Given the description of an element on the screen output the (x, y) to click on. 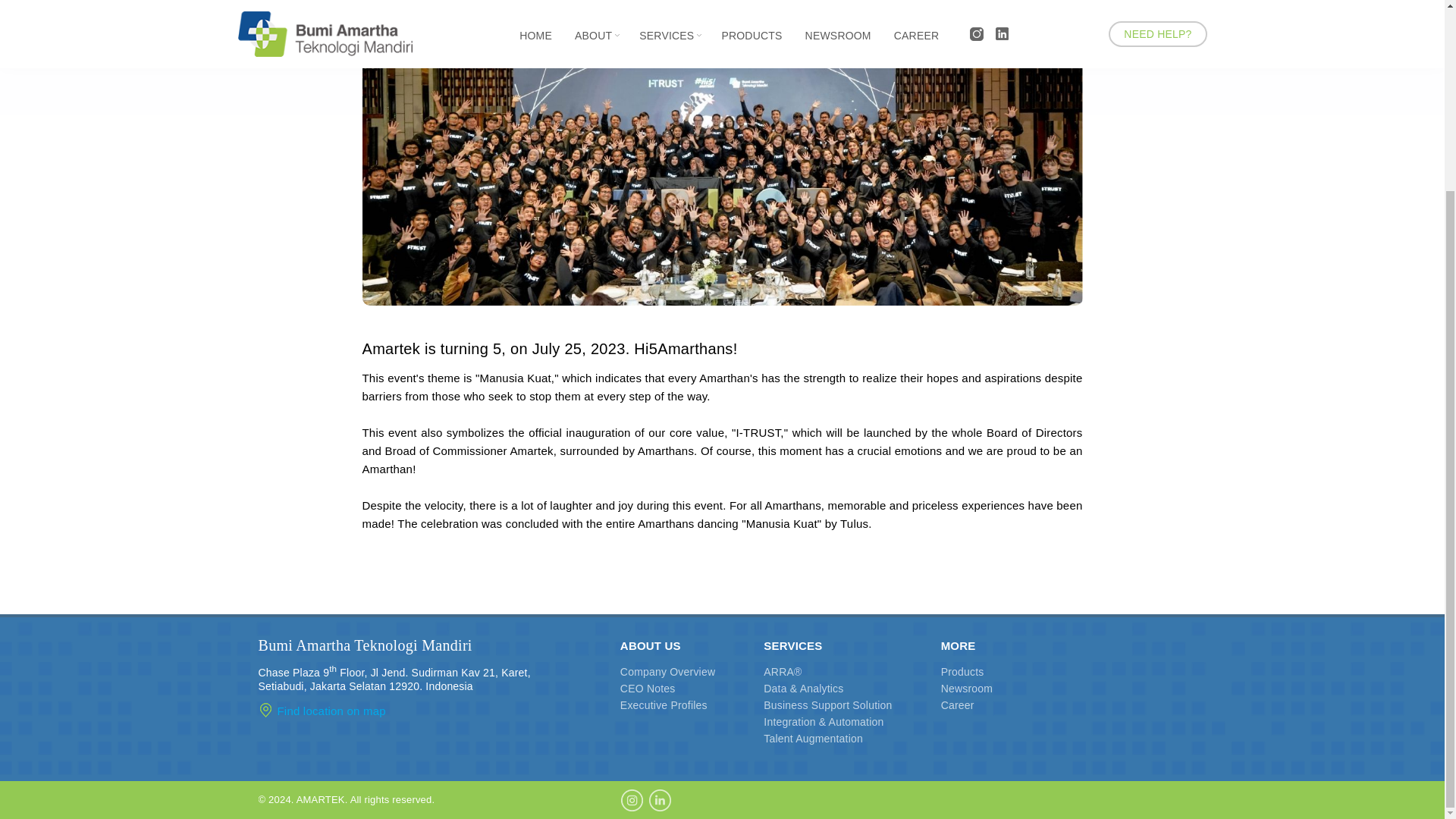
Executive Profiles (663, 705)
Products (962, 671)
Follow our Instagram (631, 796)
CEO Notes (647, 688)
Business Support Solution (826, 705)
Company Overview (667, 671)
Newsroom (966, 688)
Talent Augmentation (812, 738)
Career (957, 705)
Find location on map (321, 710)
Connect with us in LinkedIn (659, 796)
